Given the description of an element on the screen output the (x, y) to click on. 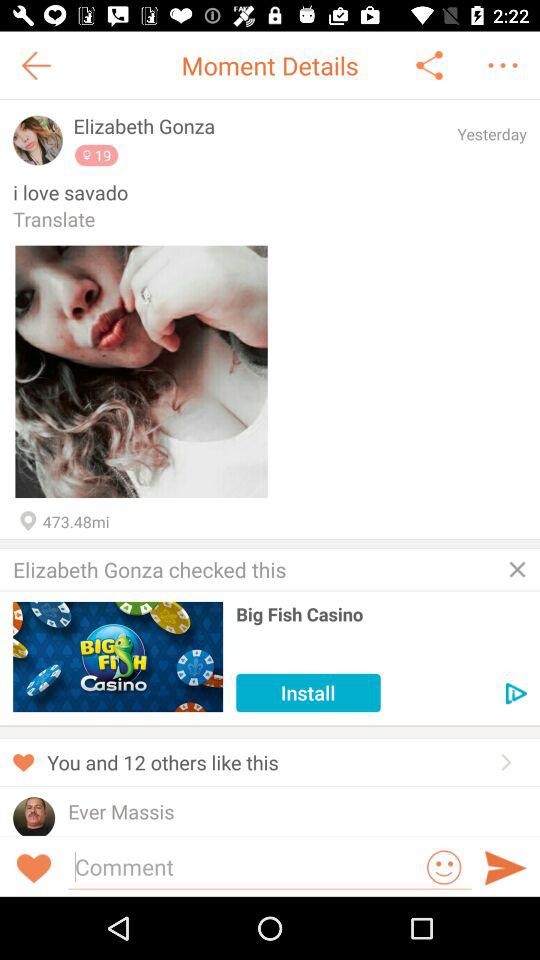
view in full size (141, 371)
